Given the description of an element on the screen output the (x, y) to click on. 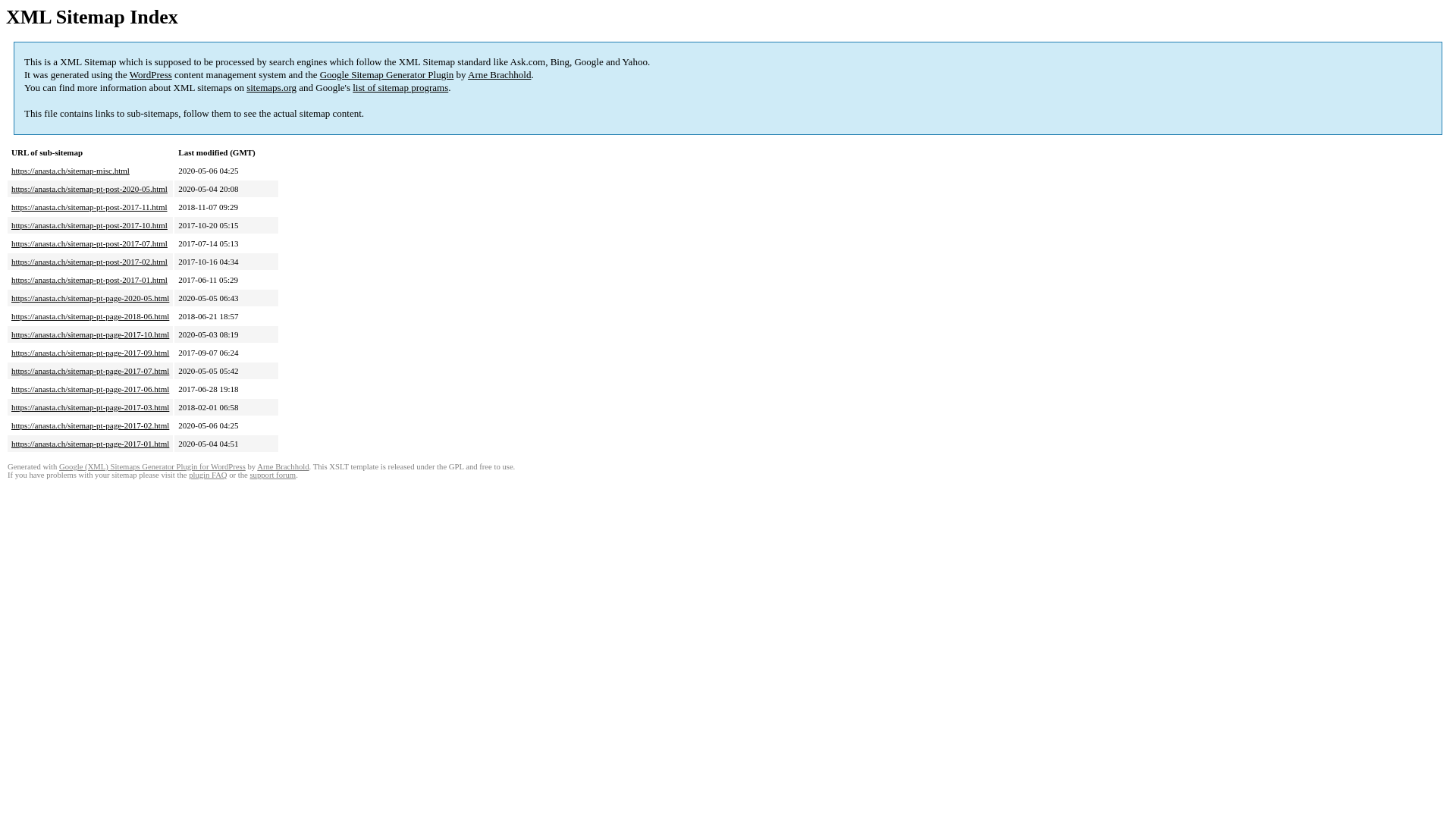
https://anasta.ch/sitemap-pt-post-2020-05.html Element type: text (89, 188)
https://anasta.ch/sitemap-pt-post-2017-07.html Element type: text (89, 242)
https://anasta.ch/sitemap-pt-page-2020-05.html Element type: text (90, 297)
https://anasta.ch/sitemap-misc.html Element type: text (70, 170)
support forum Element type: text (272, 474)
https://anasta.ch/sitemap-pt-page-2017-06.html Element type: text (90, 388)
sitemaps.org Element type: text (271, 87)
https://anasta.ch/sitemap-pt-post-2017-01.html Element type: text (89, 279)
https://anasta.ch/sitemap-pt-page-2017-01.html Element type: text (90, 443)
Google Sitemap Generator Plugin Element type: text (387, 74)
WordPress Element type: text (150, 74)
https://anasta.ch/sitemap-pt-page-2017-02.html Element type: text (90, 424)
https://anasta.ch/sitemap-pt-page-2017-09.html Element type: text (90, 352)
https://anasta.ch/sitemap-pt-post-2017-10.html Element type: text (89, 224)
plugin FAQ Element type: text (207, 474)
https://anasta.ch/sitemap-pt-page-2017-10.html Element type: text (90, 333)
list of sitemap programs Element type: text (400, 87)
https://anasta.ch/sitemap-pt-page-2017-07.html Element type: text (90, 370)
https://anasta.ch/sitemap-pt-post-2017-02.html Element type: text (89, 261)
Arne Brachhold Element type: text (282, 466)
https://anasta.ch/sitemap-pt-page-2018-06.html Element type: text (90, 315)
https://anasta.ch/sitemap-pt-page-2017-03.html Element type: text (90, 406)
https://anasta.ch/sitemap-pt-post-2017-11.html Element type: text (89, 206)
Google (XML) Sitemaps Generator Plugin for WordPress Element type: text (152, 466)
Arne Brachhold Element type: text (498, 74)
